Given the description of an element on the screen output the (x, y) to click on. 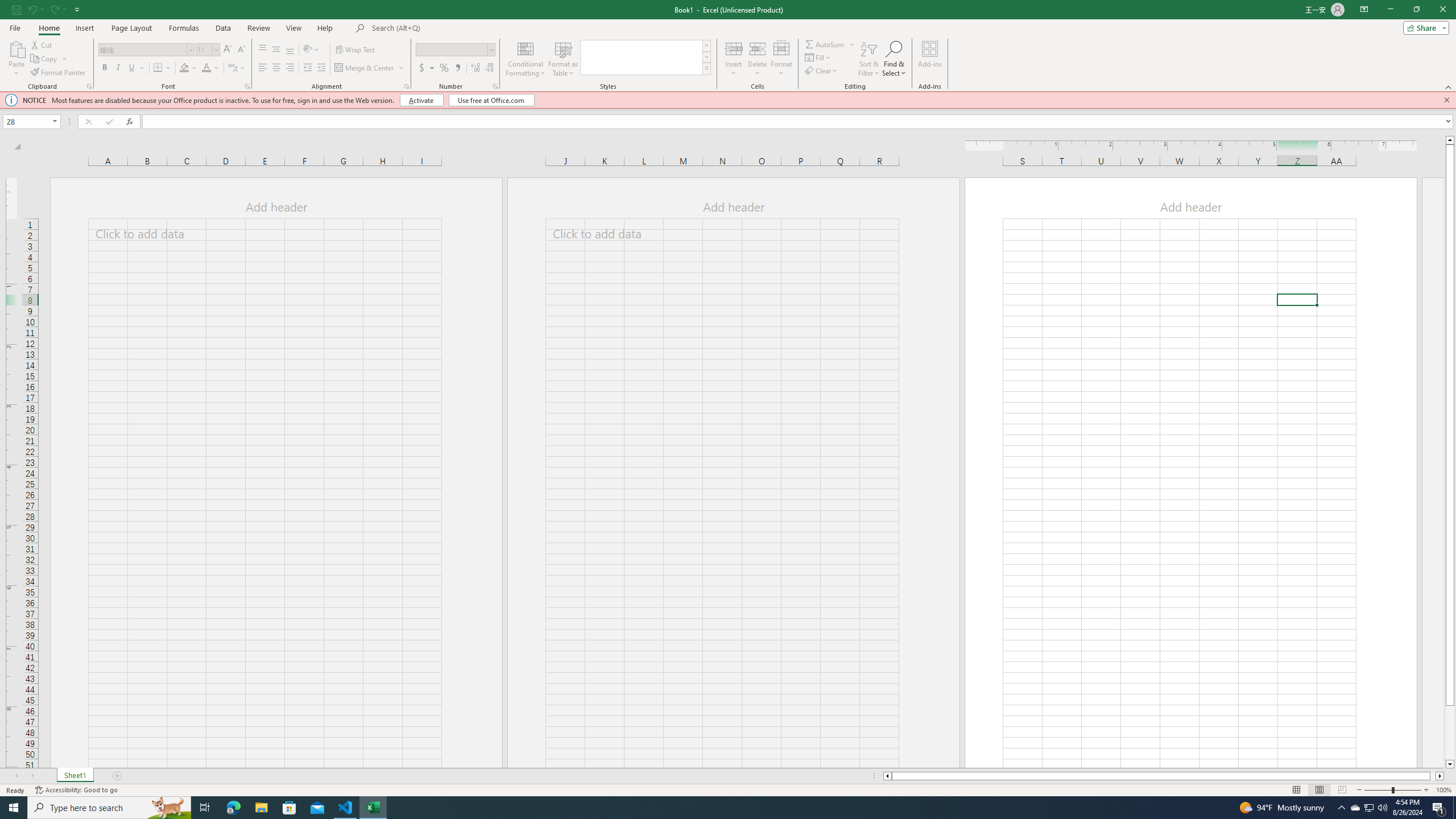
Merge & Center (365, 67)
Accounting Number Format (426, 67)
Accounting Number Format (422, 67)
Merge & Center (369, 67)
Format Cell Alignment (405, 85)
Center (276, 67)
Use free at Office.com (491, 100)
Paste (16, 58)
Cell Styles (705, 68)
